Given the description of an element on the screen output the (x, y) to click on. 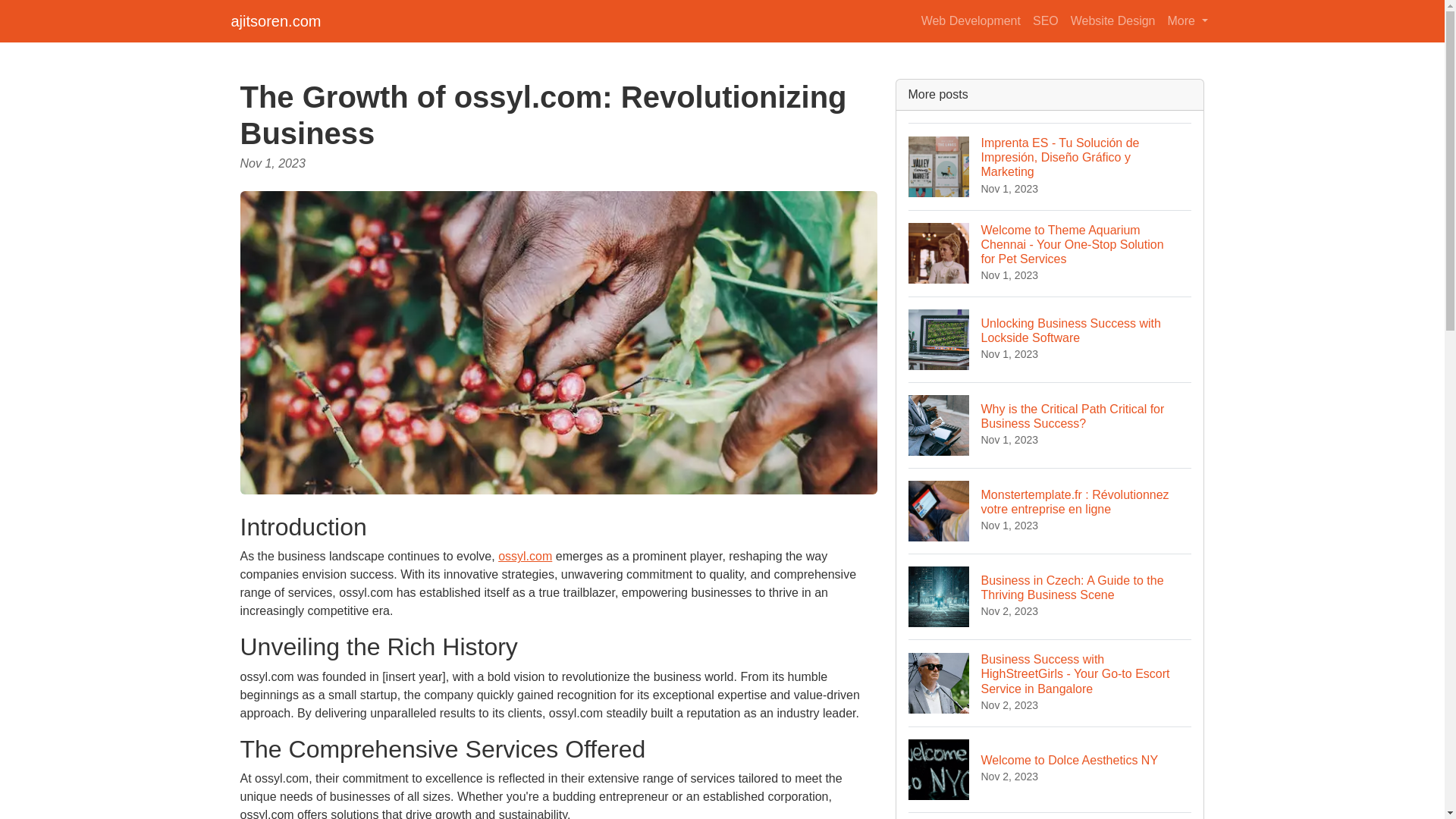
ajitsoren.com (275, 20)
ossyl.com (524, 555)
SEO (1045, 20)
Web Development (1050, 769)
Website Design (970, 20)
More (1112, 20)
